Given the description of an element on the screen output the (x, y) to click on. 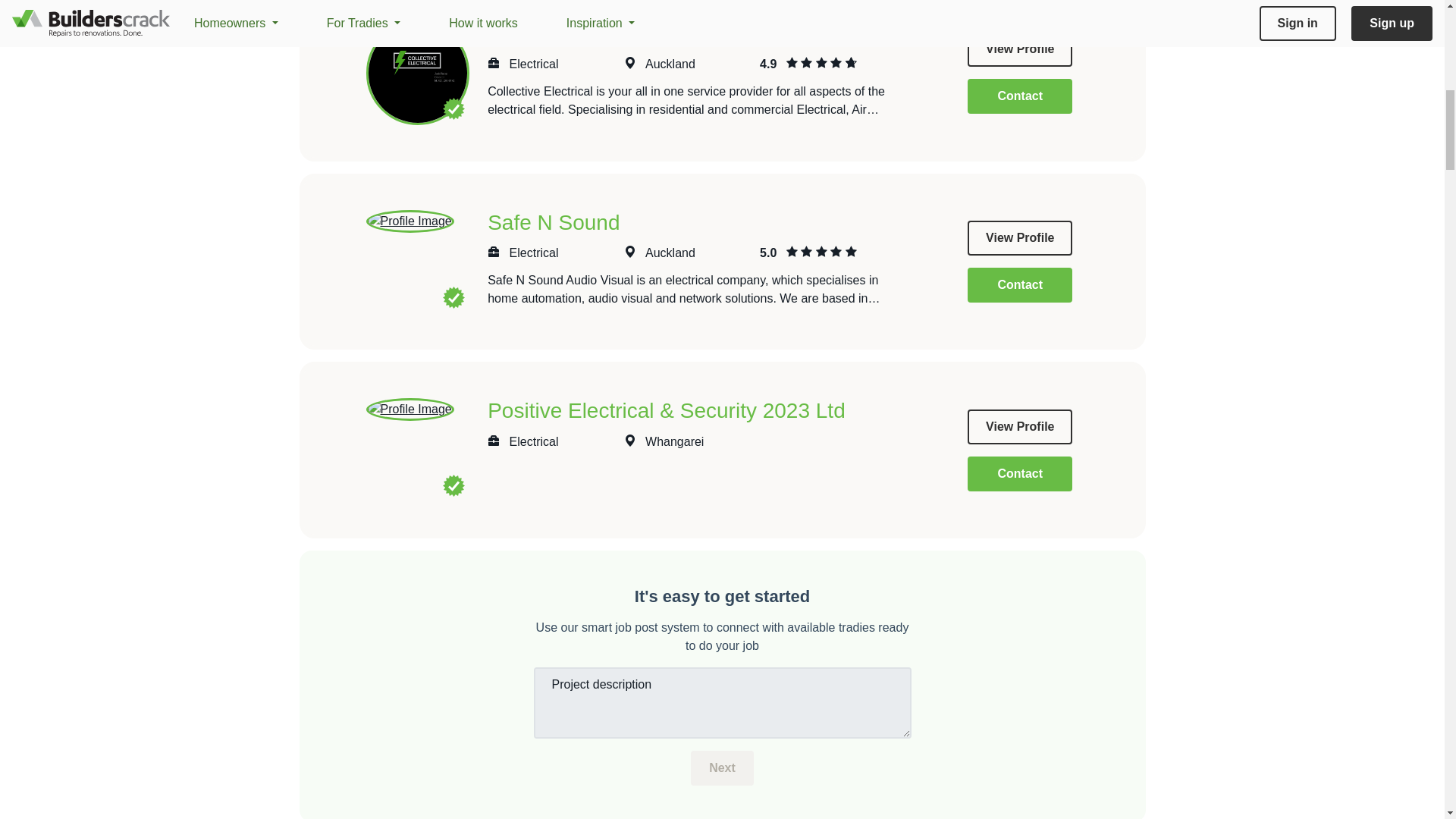
Safe N Sound (553, 222)
Contact (1019, 284)
BC Verified (453, 108)
Collective Electrical (579, 33)
BC Verified (453, 297)
BC Verified (453, 485)
View Profile (1019, 48)
View Profile (1019, 237)
Contact (1019, 95)
